Given the description of an element on the screen output the (x, y) to click on. 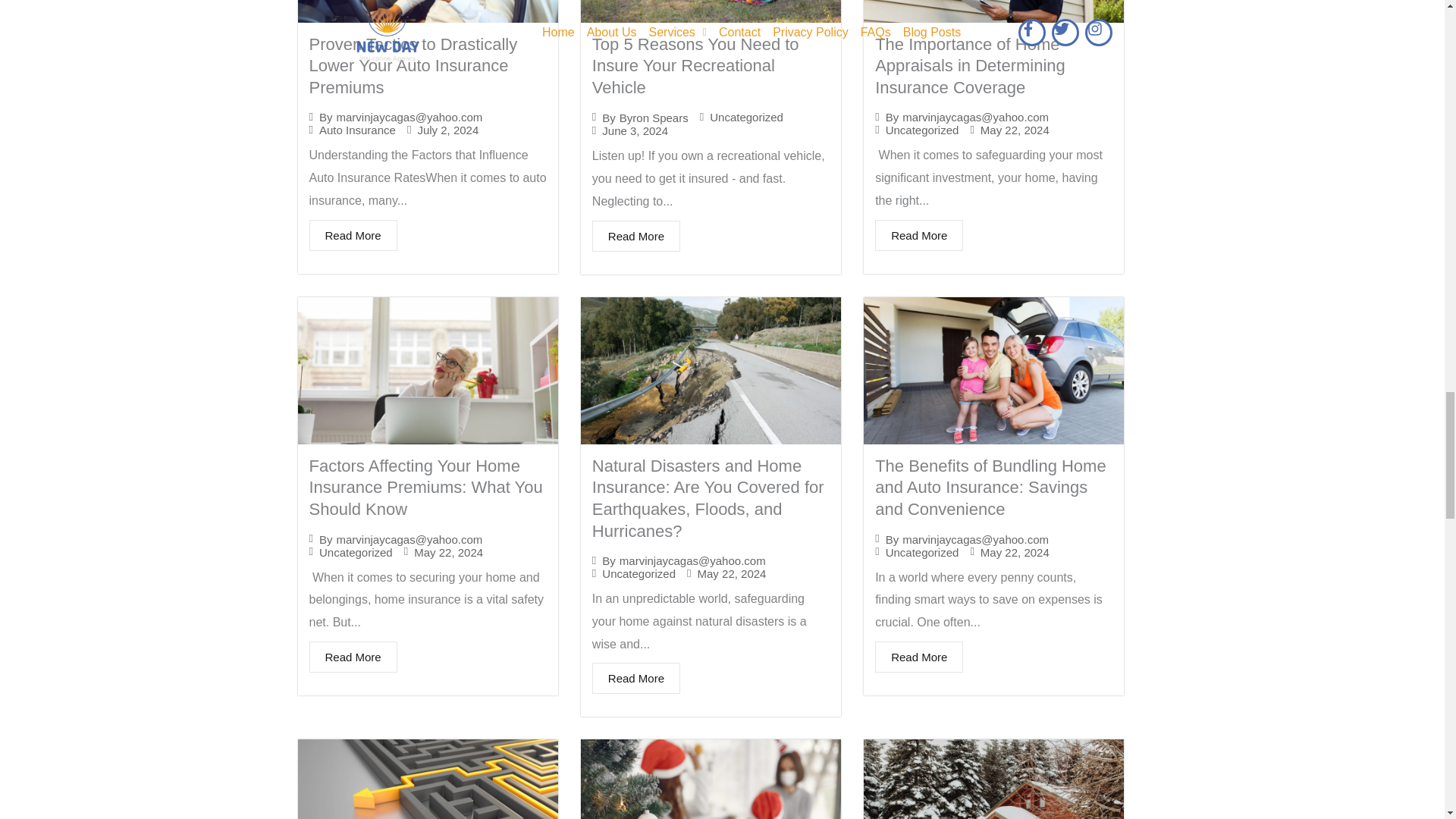
Auto Insurance (357, 129)
July 2, 2024 (447, 129)
